Given the description of an element on the screen output the (x, y) to click on. 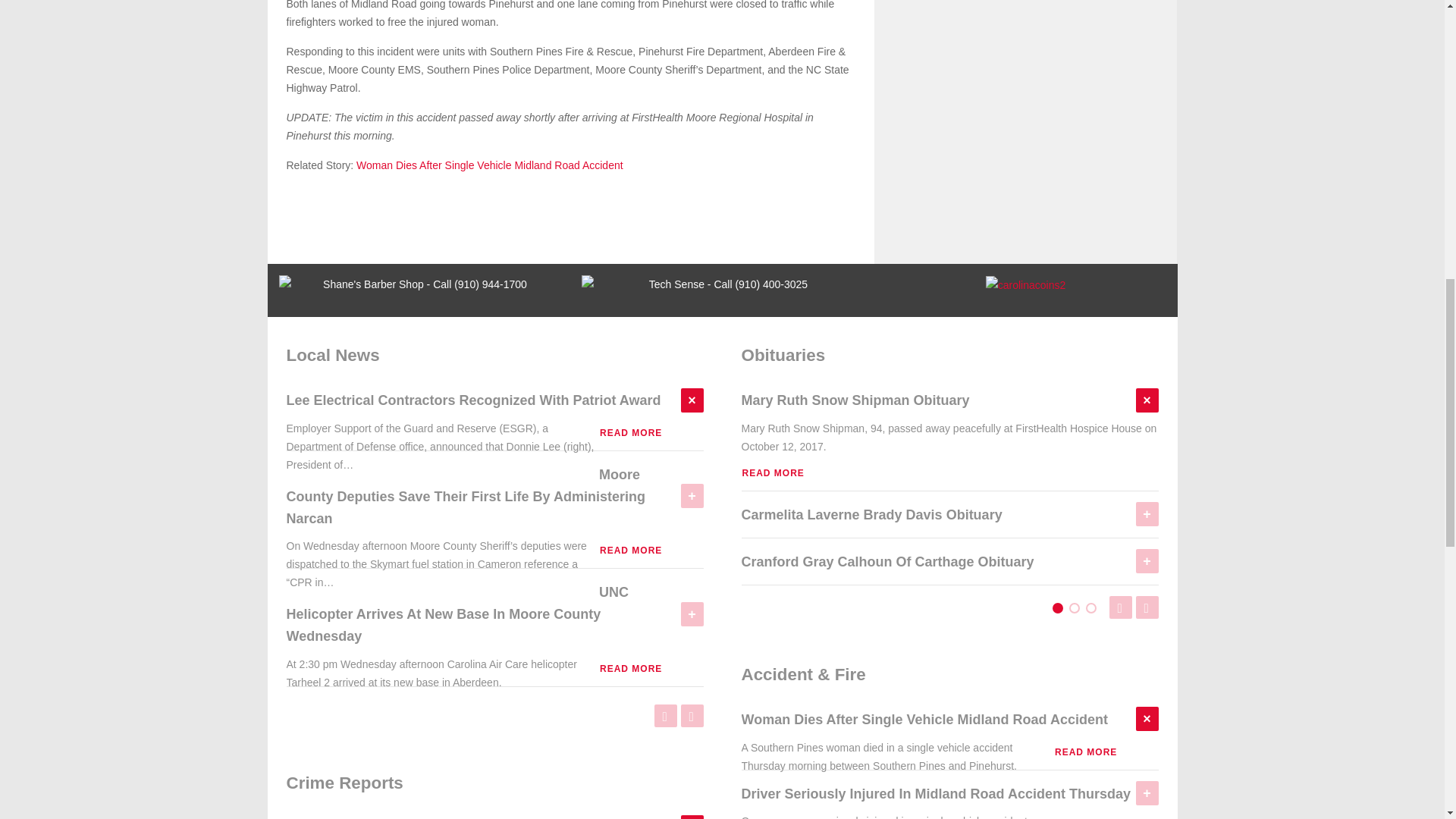
Woman Dies After Single Vehicle Midland Road Accident (489, 164)
READ MORE (630, 668)
READ MORE (630, 550)
READ MORE (773, 472)
READ MORE (630, 432)
